Given the description of an element on the screen output the (x, y) to click on. 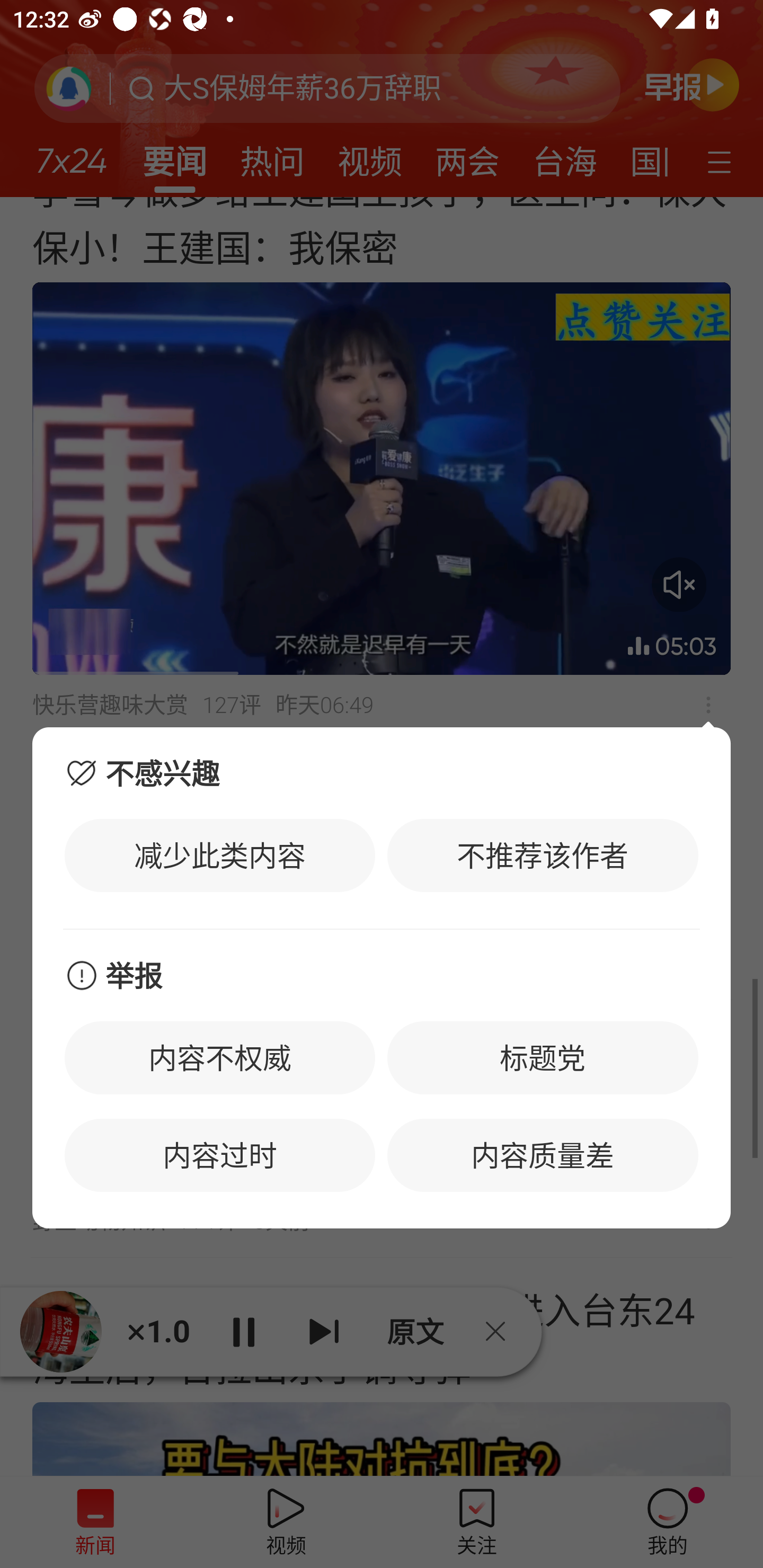
减少此类内容 (219, 855)
不推荐该作者 (542, 855)
内容不权威 (219, 1057)
标题党 (542, 1057)
内容过时 (219, 1155)
内容质量差 (542, 1155)
